Given the description of an element on the screen output the (x, y) to click on. 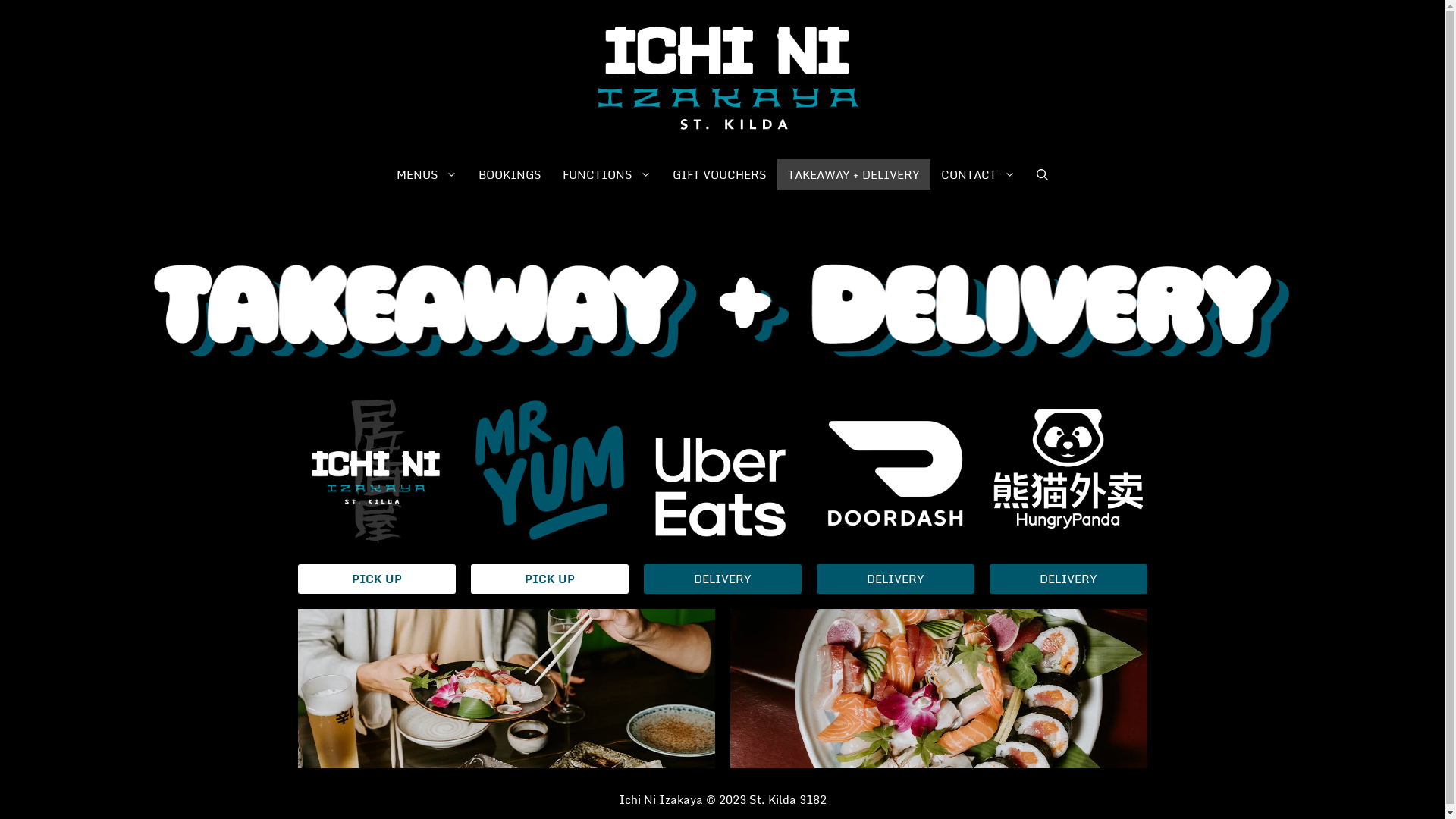
BOOKINGS Element type: text (509, 174)
TAKEAWAY + DELIVERY Element type: text (853, 174)
MENUS Element type: text (426, 174)
PICK UP Element type: text (376, 578)
DELIVERY Element type: text (1067, 578)
DELIVERY Element type: text (721, 578)
DELIVERY Element type: text (894, 578)
FUNCTIONS Element type: text (607, 174)
GIFT VOUCHERS Element type: text (719, 174)
CONTACT Element type: text (978, 174)
PICK UP Element type: text (548, 578)
